Given the description of an element on the screen output the (x, y) to click on. 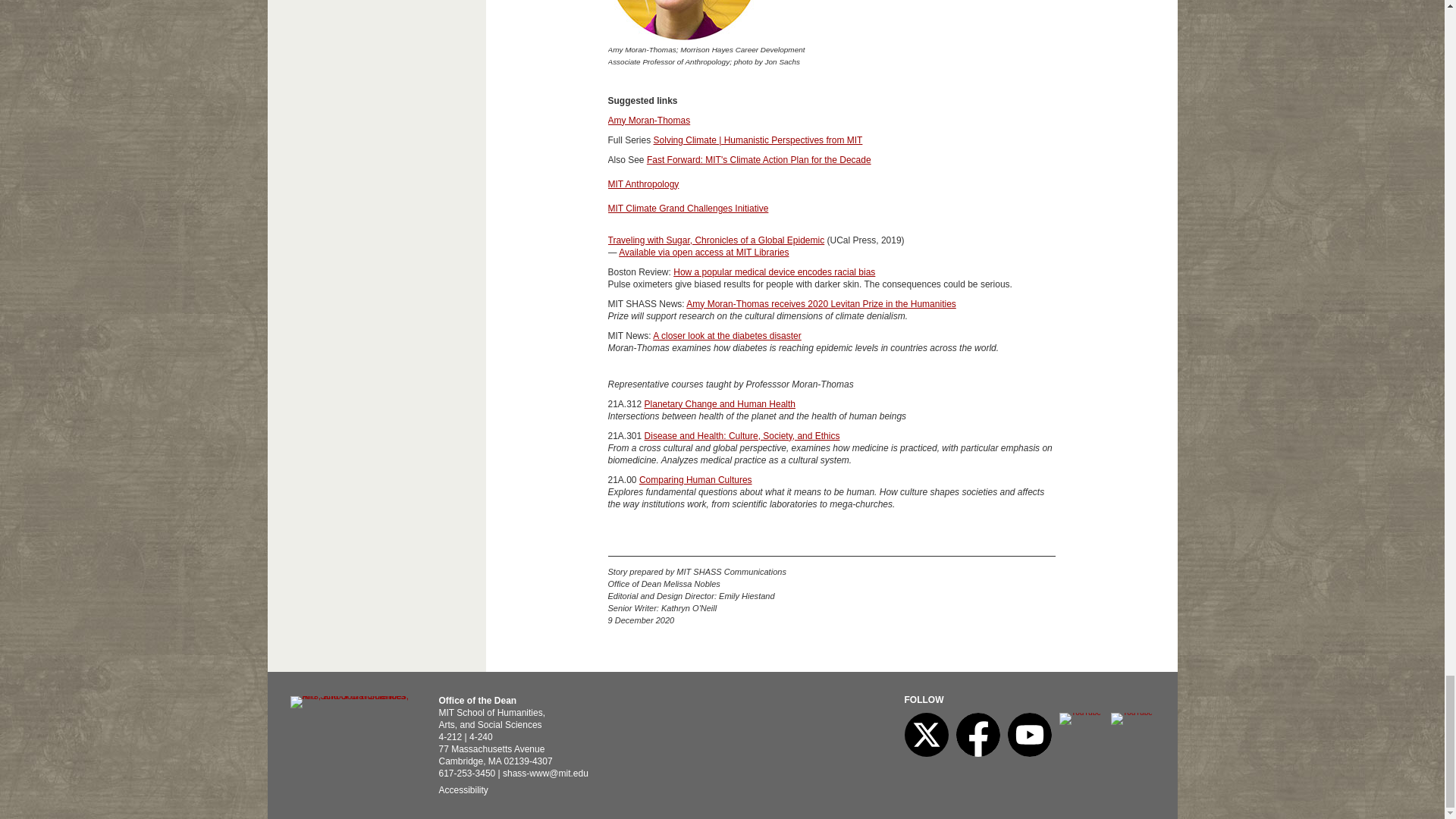
MIT home (349, 696)
Visit us on LinkedIn (1079, 712)
Visit us on X (925, 754)
Visit us on YouTube (1029, 754)
Visit us on Instagram (1130, 712)
Visit us on Facebook (976, 754)
